Given the description of an element on the screen output the (x, y) to click on. 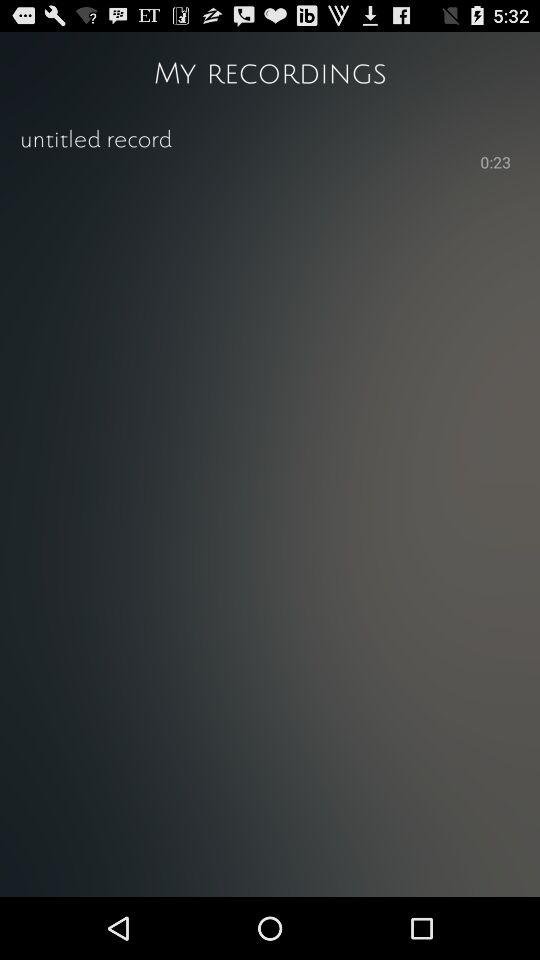
choose the icon at the top right corner (495, 163)
